Given the description of an element on the screen output the (x, y) to click on. 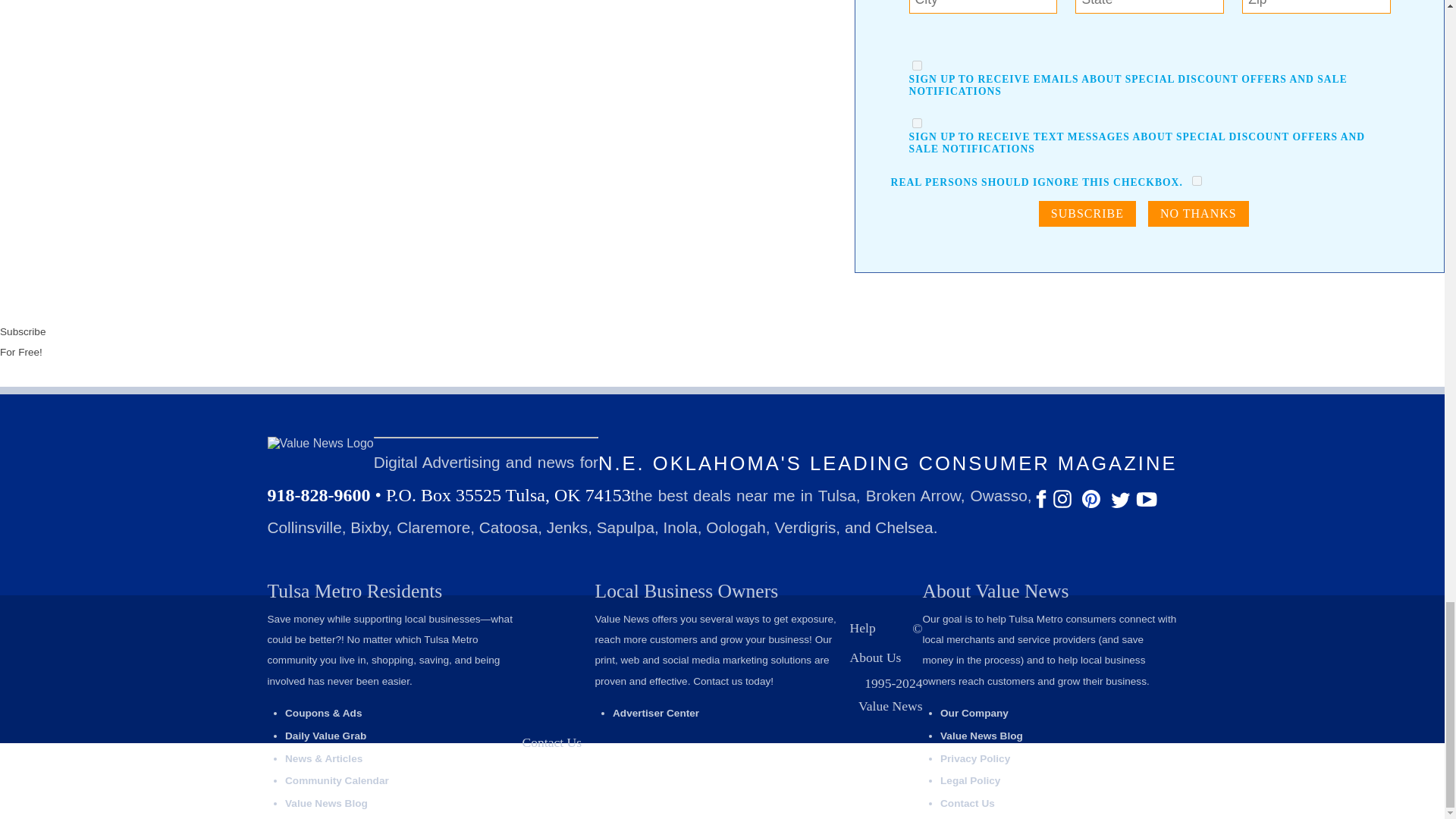
No Thanks (1198, 213)
1 (916, 122)
Subscribe (1087, 213)
1 (1197, 180)
1 (916, 65)
